Given the description of an element on the screen output the (x, y) to click on. 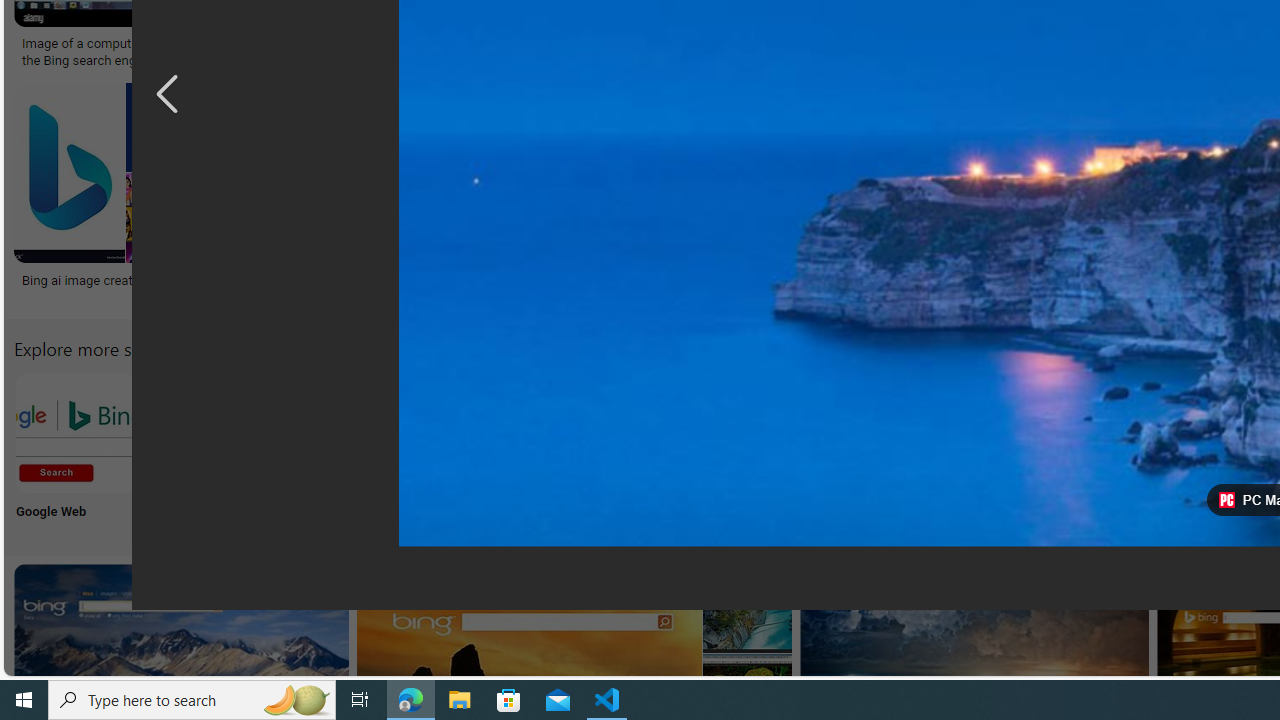
Google Web (74, 450)
favicon (1226, 500)
Image Search Bing Engine (347, 44)
Results (1131, 450)
Dark Mode (604, 450)
Internet Explorer (339, 450)
Download Bing Pictures | Wallpapers.com (1046, 44)
Image result for Bing Search Site (644, 172)
Microsoft Edge (472, 450)
App Logo (207, 450)
Bing Photo Search Microsoft Edge (472, 432)
App Icon (735, 450)
